Given the description of an element on the screen output the (x, y) to click on. 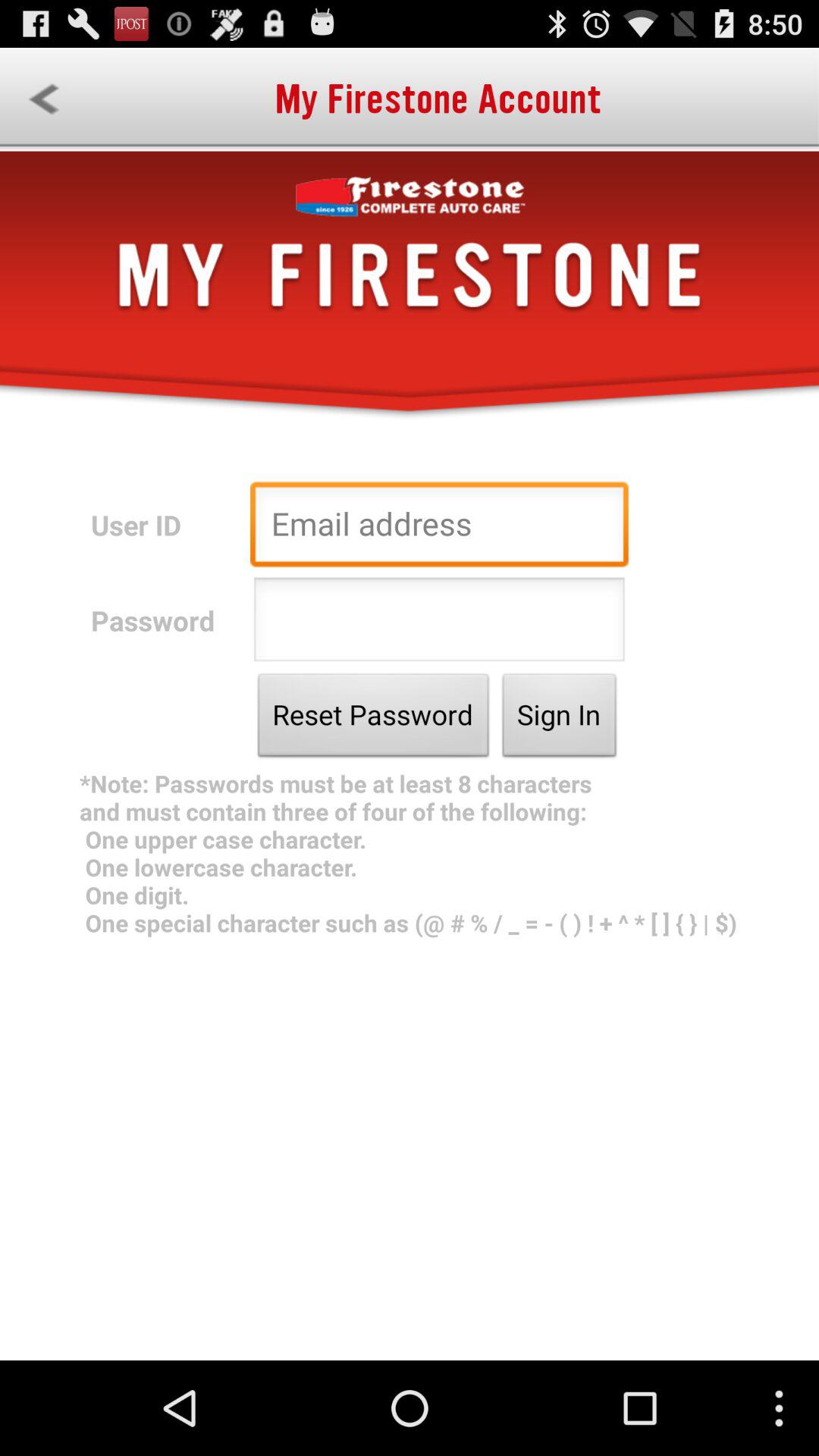
enter email address (439, 528)
